Given the description of an element on the screen output the (x, y) to click on. 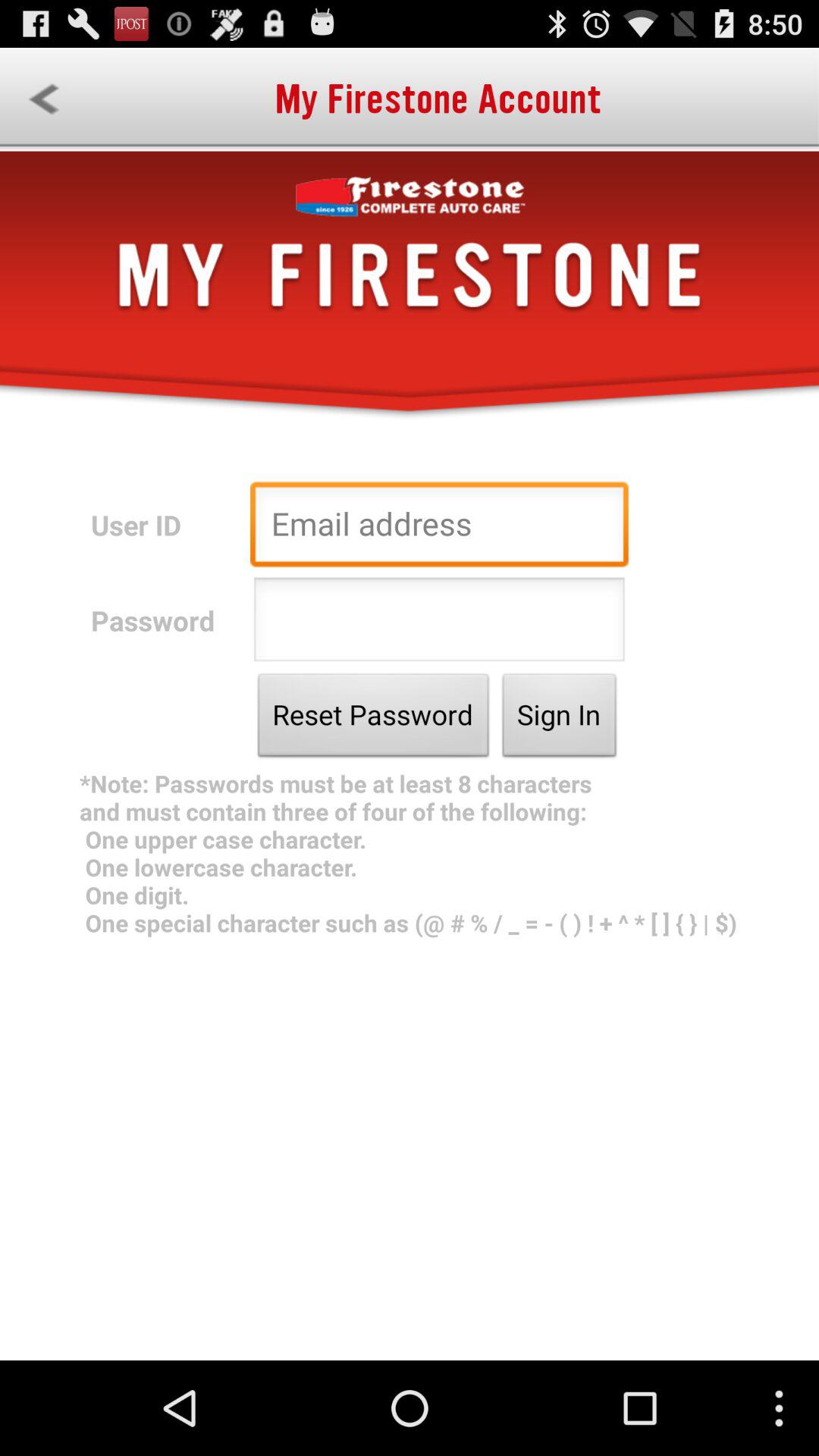
enter email address (439, 528)
